Given the description of an element on the screen output the (x, y) to click on. 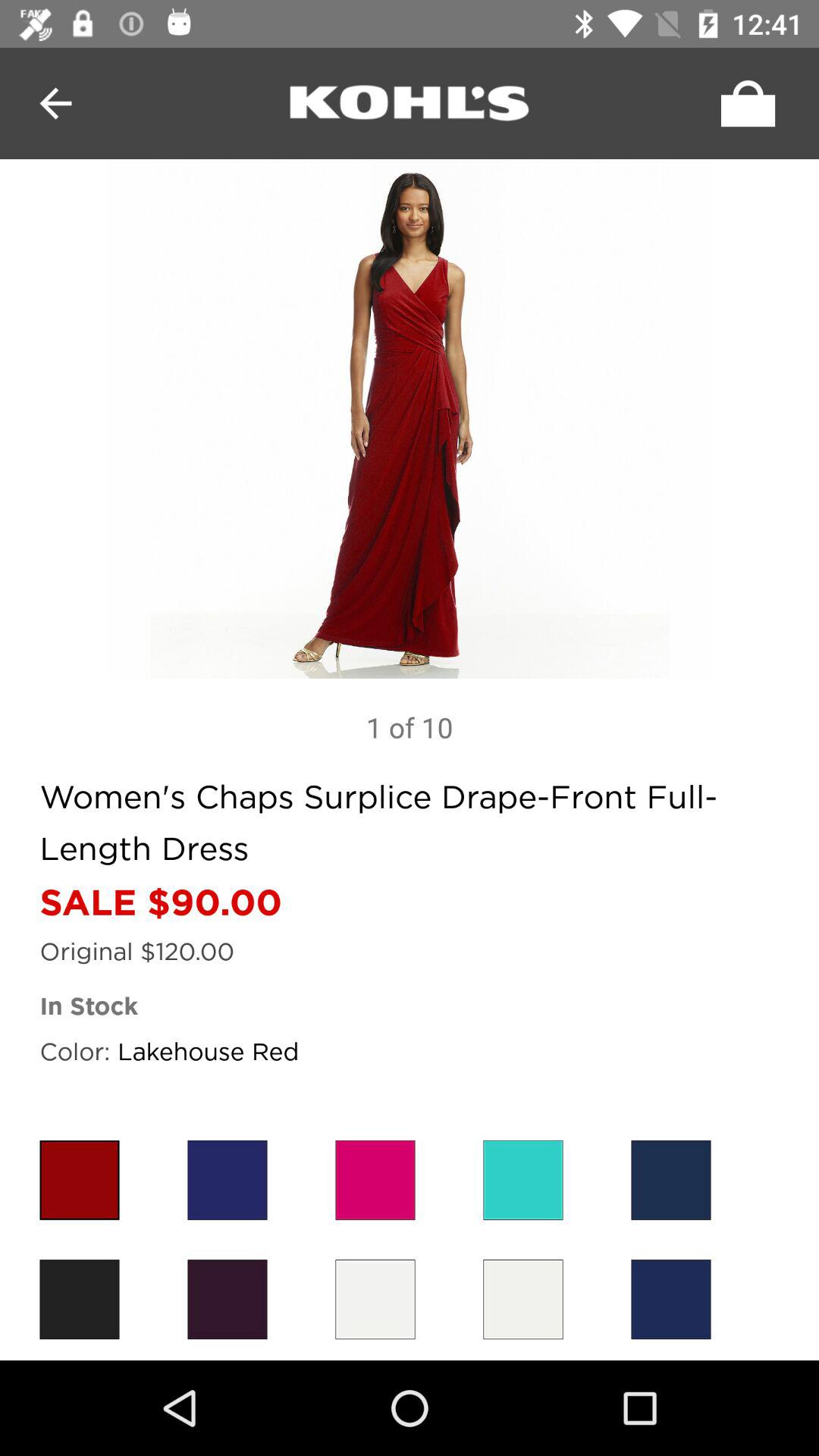
select this color (79, 1179)
